Given the description of an element on the screen output the (x, y) to click on. 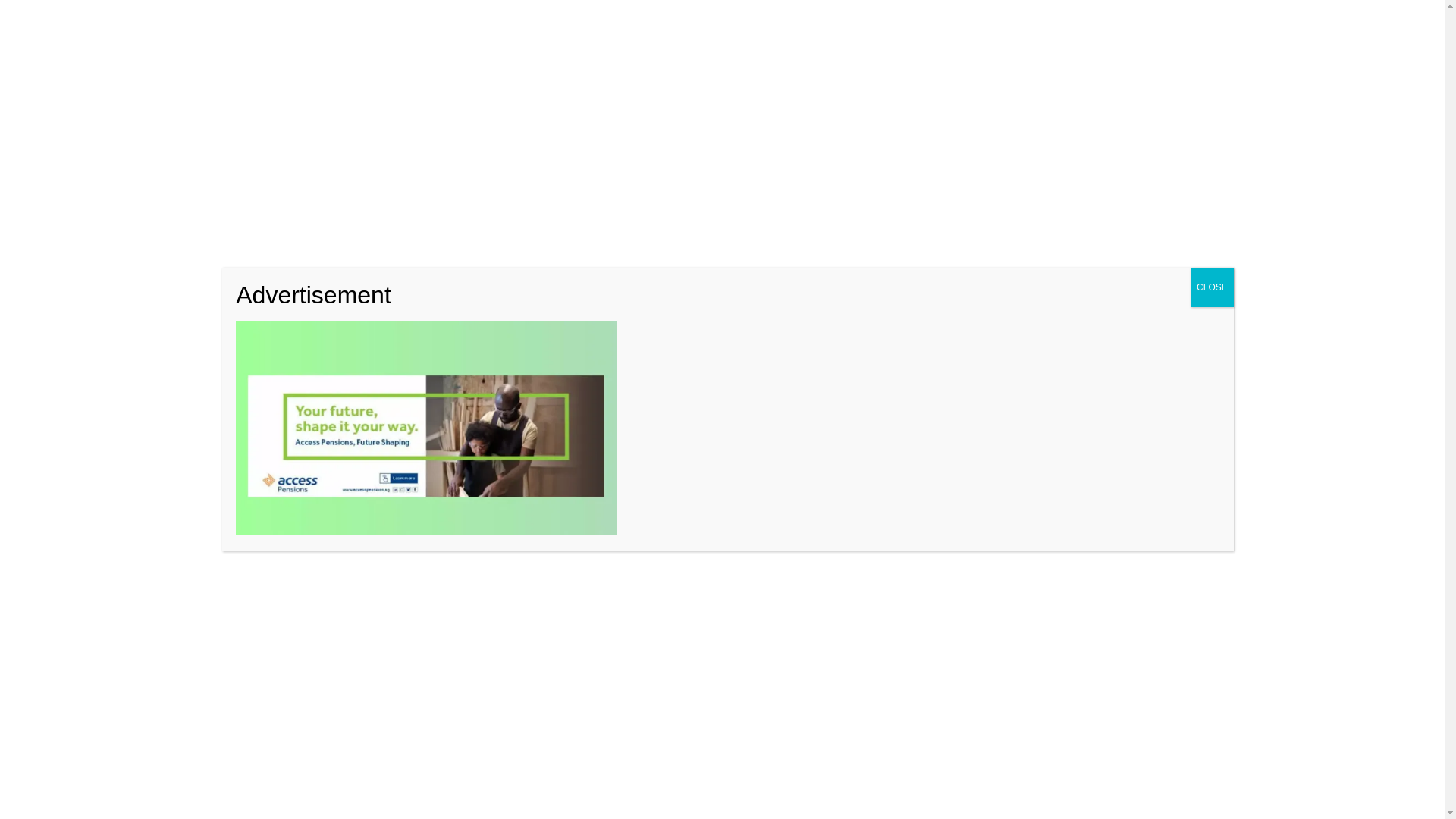
Contact Us (250, 16)
Home (291, 191)
Home (151, 16)
News (342, 191)
About Us (194, 16)
